Given the description of an element on the screen output the (x, y) to click on. 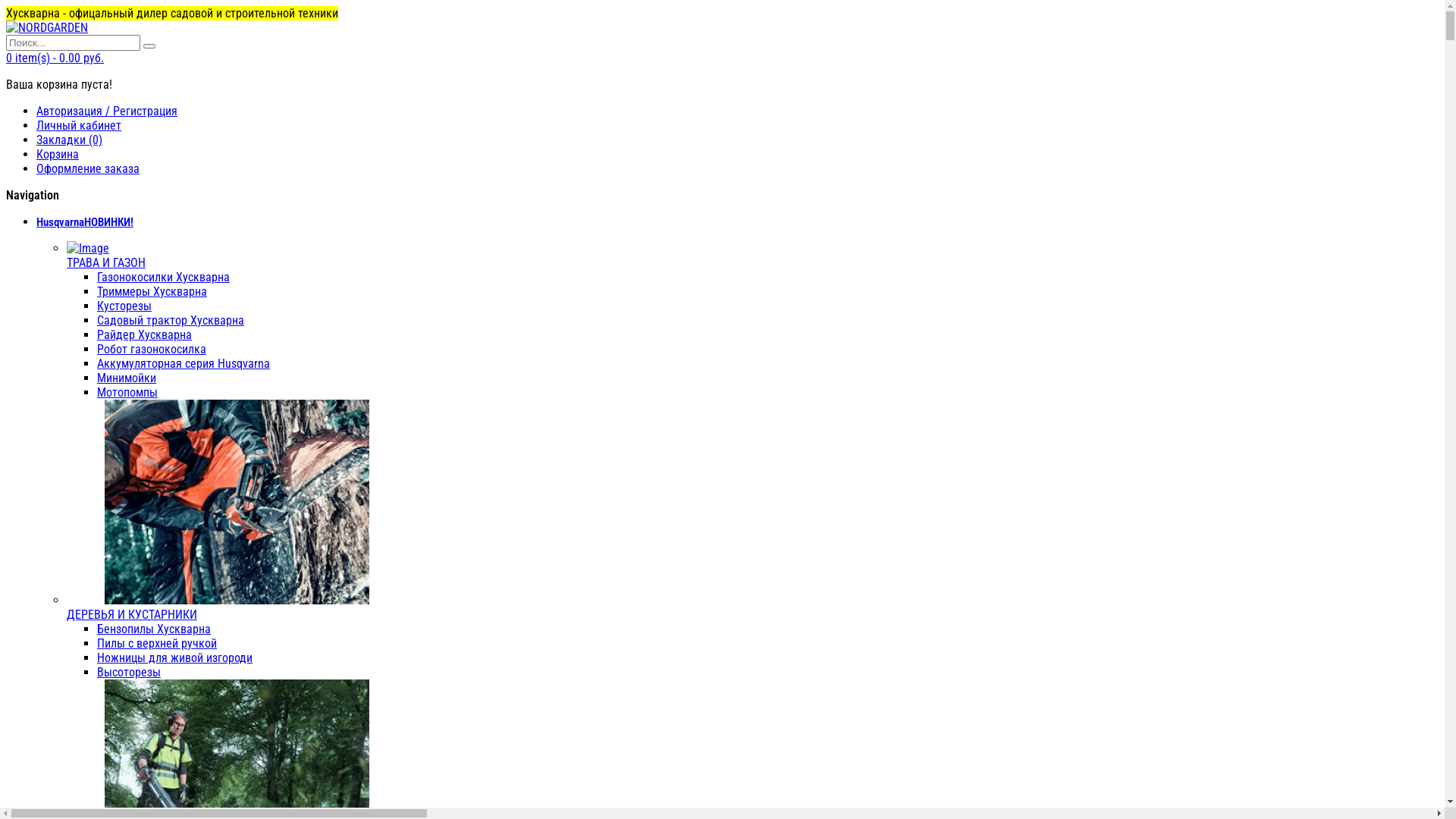
NORDGARDEN Element type: hover (46, 27)
Search Element type: hover (149, 45)
